Given the description of an element on the screen output the (x, y) to click on. 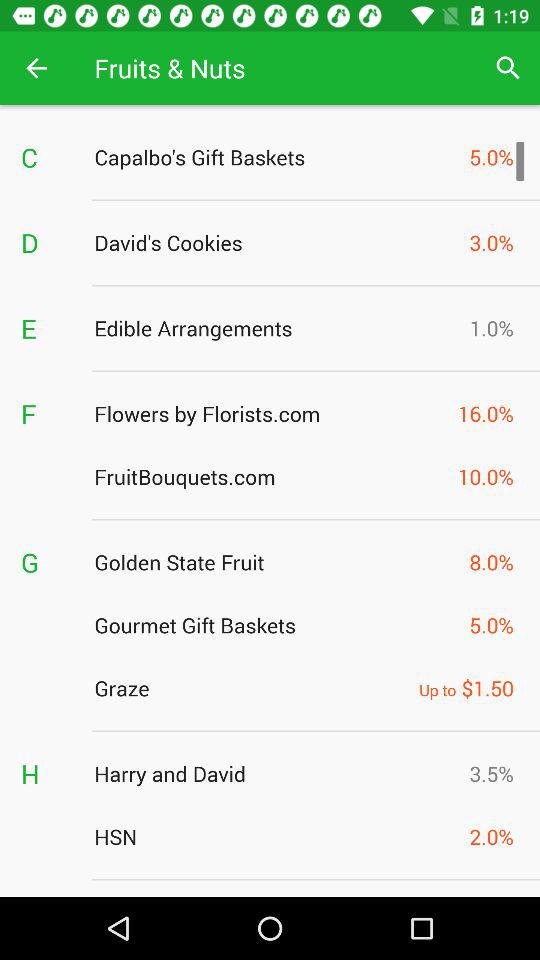
turn on app next to fruits & nuts icon (508, 67)
